Given the description of an element on the screen output the (x, y) to click on. 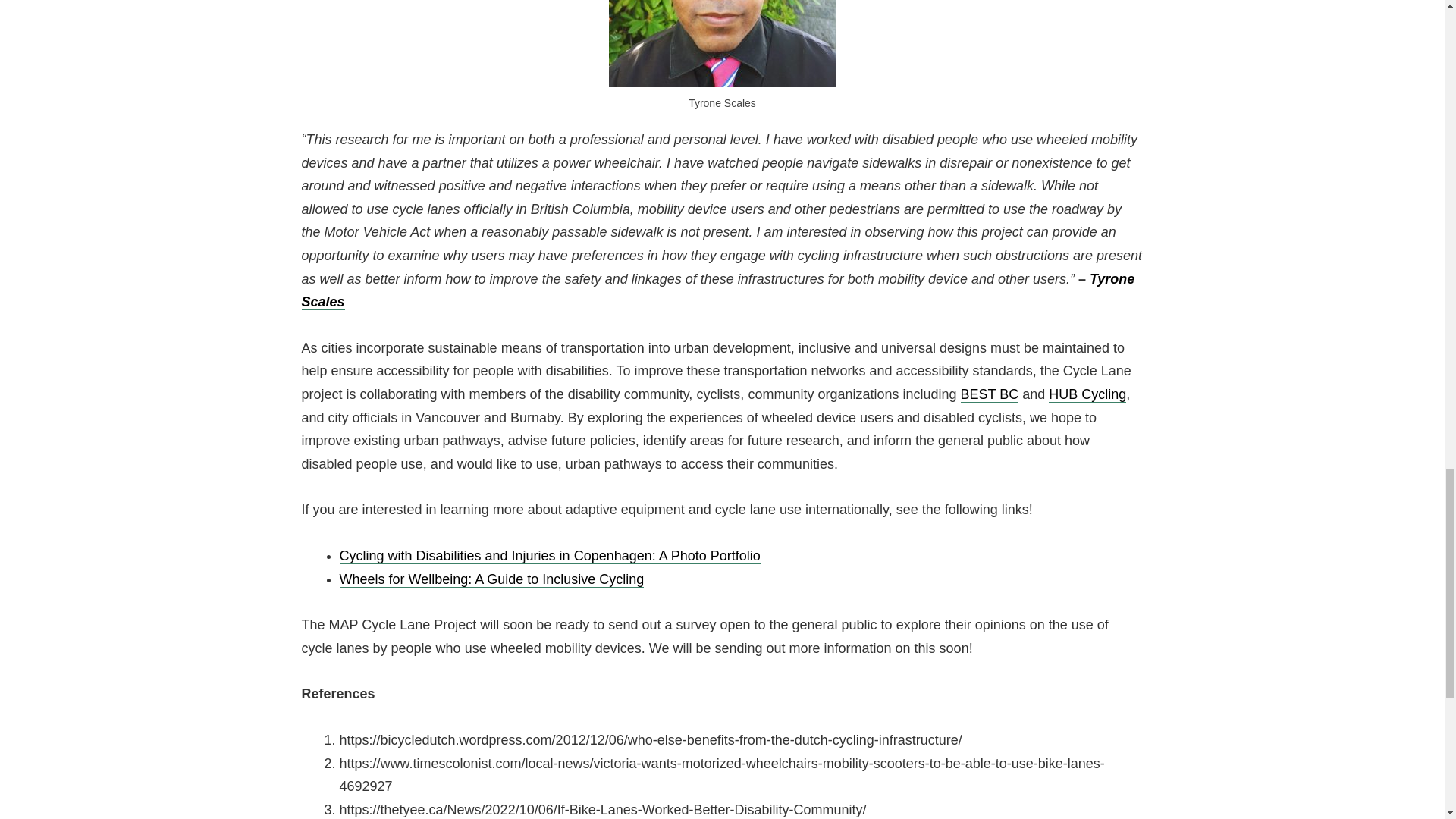
HUB Cycling (1086, 394)
Wheels for Wellbeing: A Guide to Inclusive Cycling (492, 579)
BEST BC (989, 394)
Tyrone Scales (718, 291)
